Given the description of an element on the screen output the (x, y) to click on. 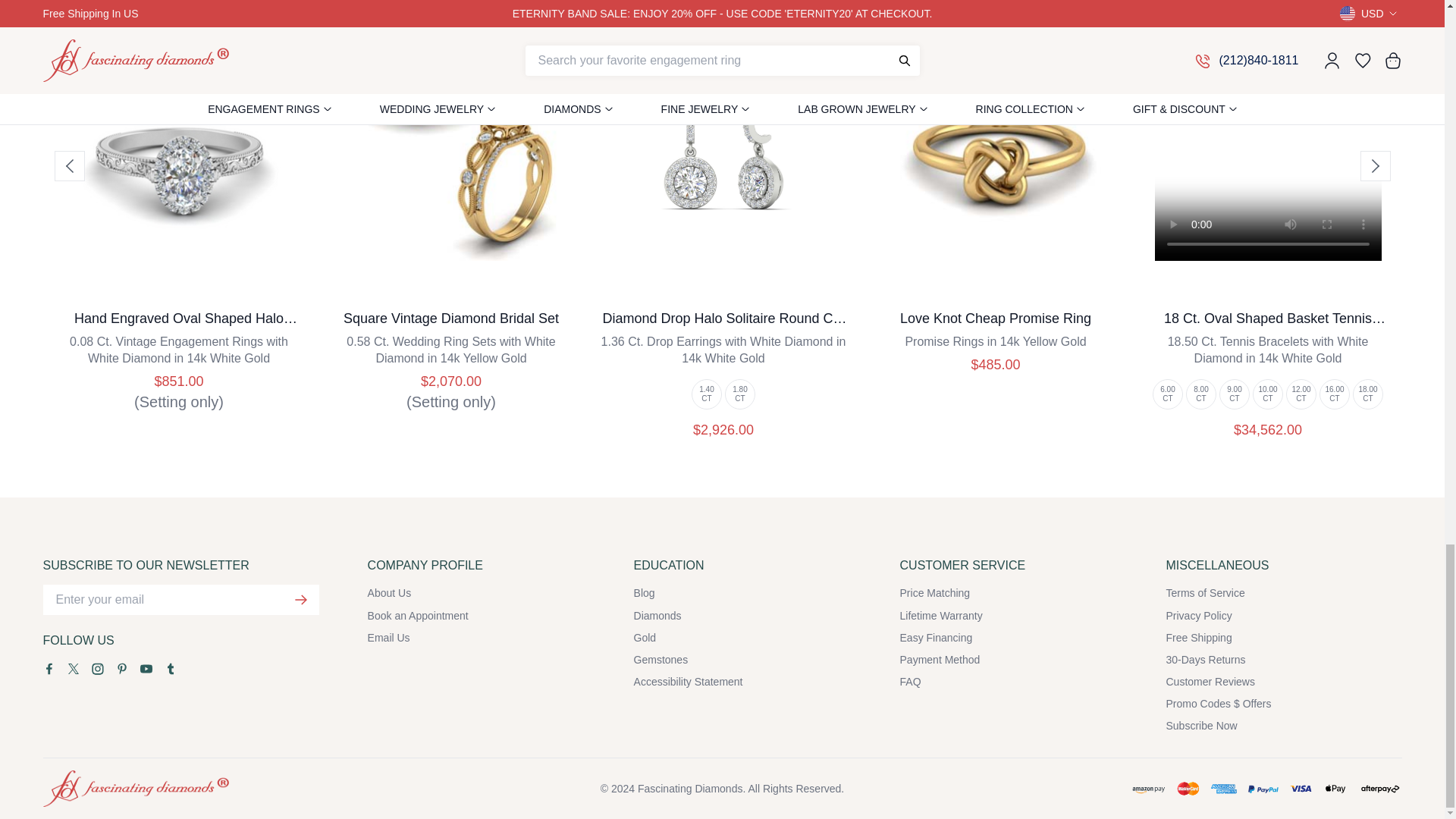
Facebook (48, 668)
Twitter (72, 668)
